Given the description of an element on the screen output the (x, y) to click on. 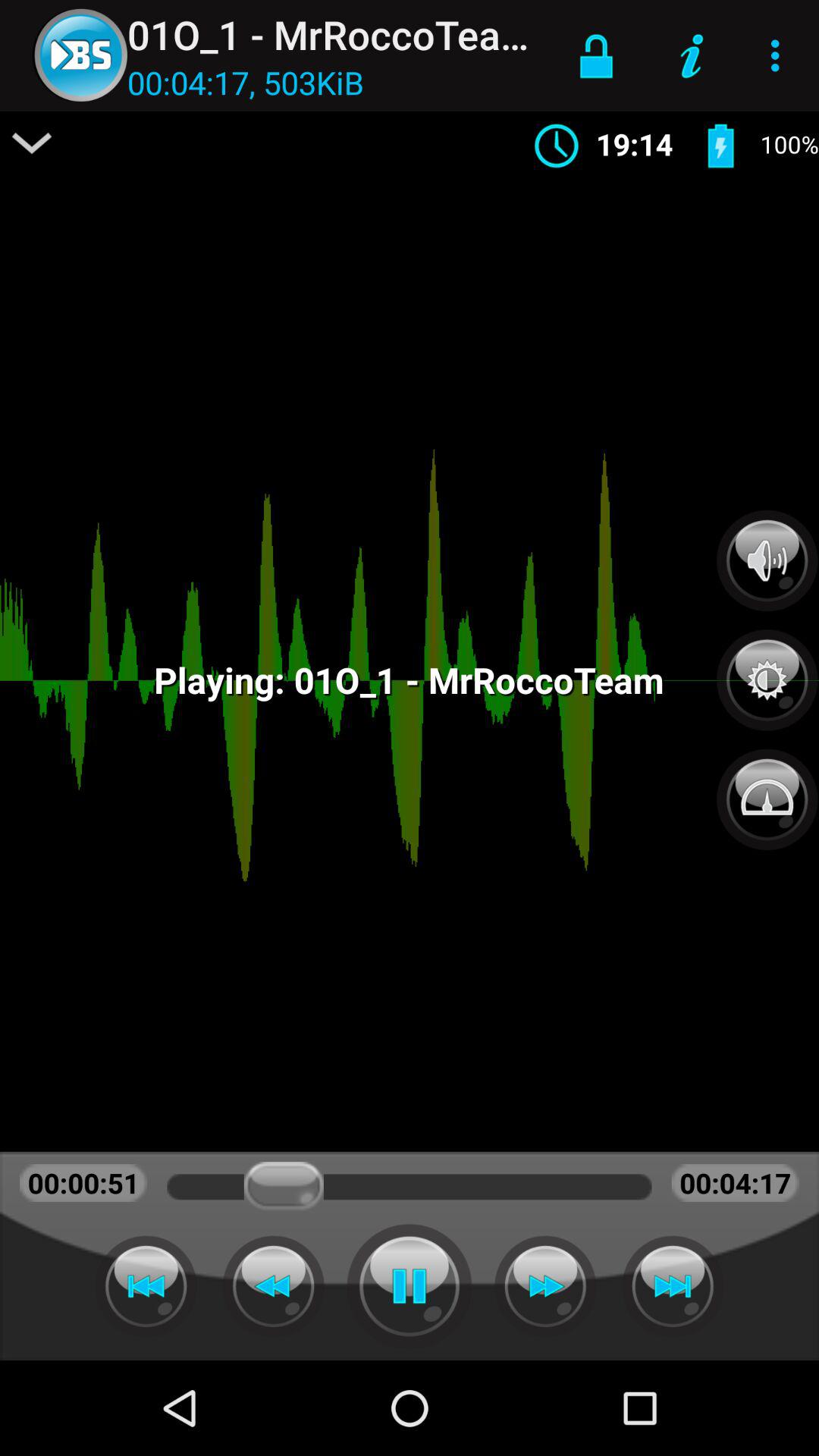
go to the end of the video (672, 1286)
